Given the description of an element on the screen output the (x, y) to click on. 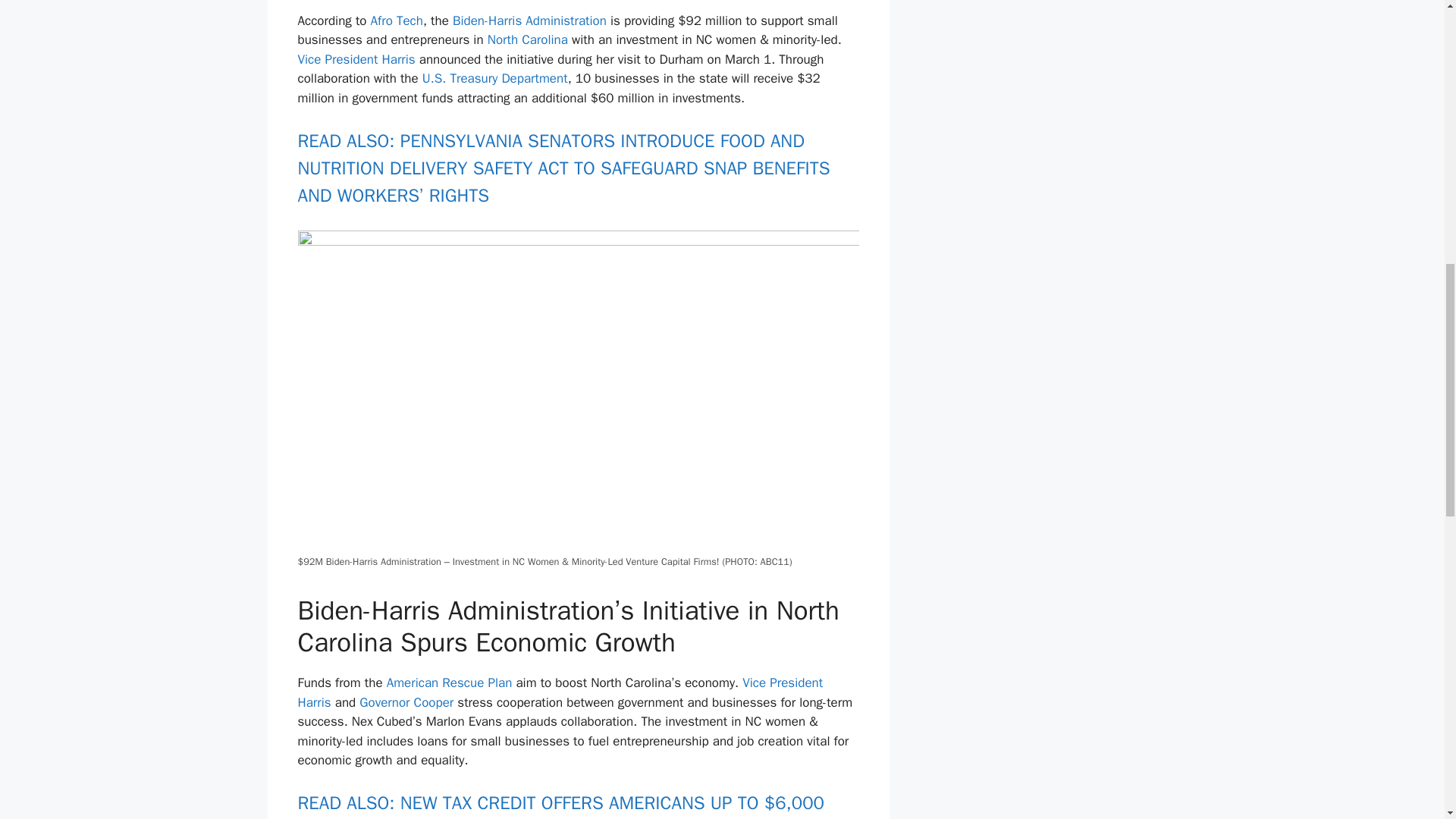
Afro Tech (397, 20)
Vice President Harris (559, 692)
American Rescue Plan (449, 682)
North Carolina (527, 39)
Governor Cooper (405, 702)
U.S. Treasury Department (494, 78)
Vice President Harris (355, 59)
Biden-Harris Administration (529, 20)
